Given the description of an element on the screen output the (x, y) to click on. 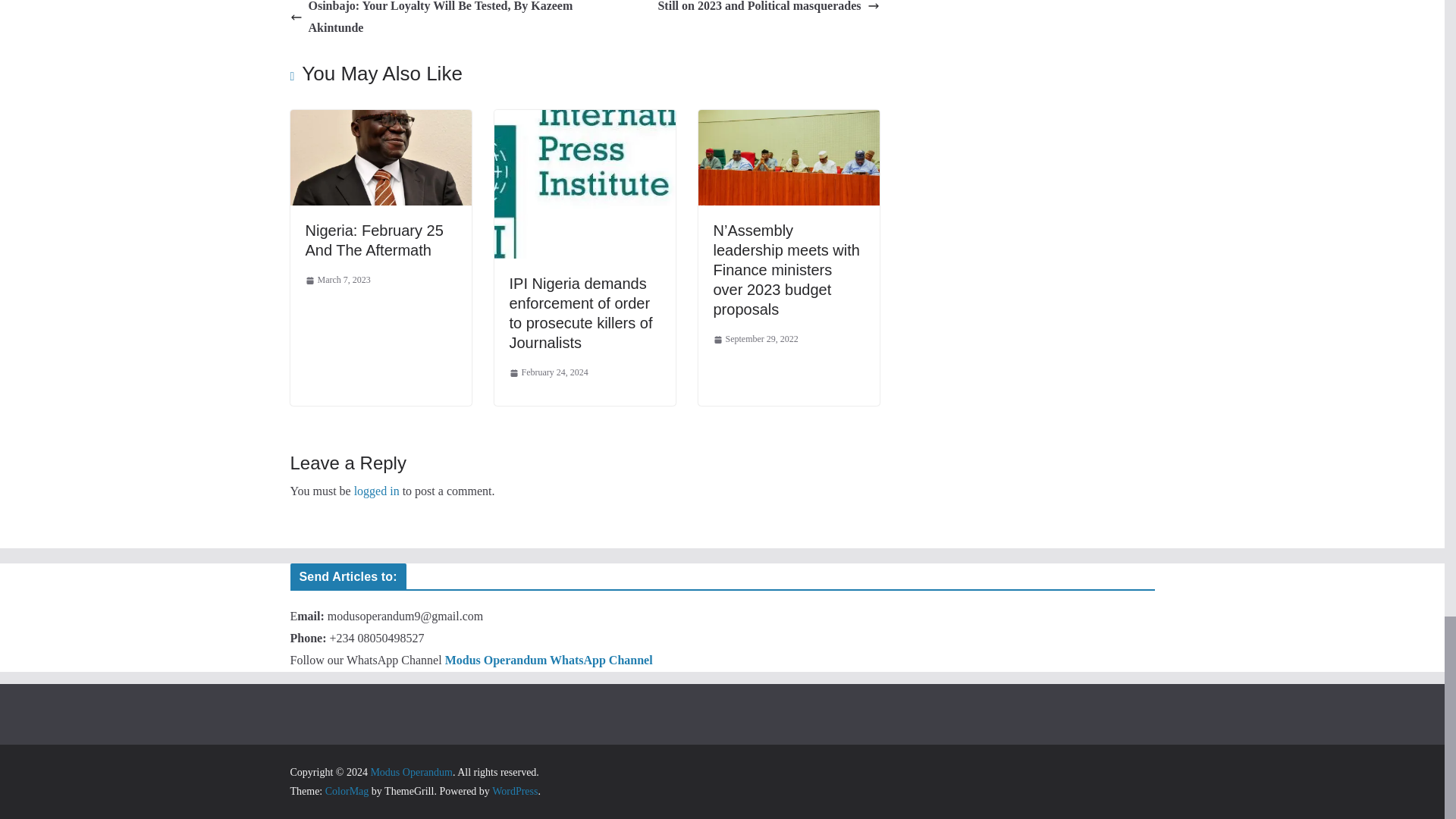
February 24, 2024 (548, 372)
Nigeria: February 25 And The Aftermath (373, 239)
Osinbajo: Your Loyalty Will Be Tested, By Kazeem Akintunde (432, 19)
March 7, 2023 (336, 280)
Still on 2023 and Political masquerades (768, 8)
